Given the description of an element on the screen output the (x, y) to click on. 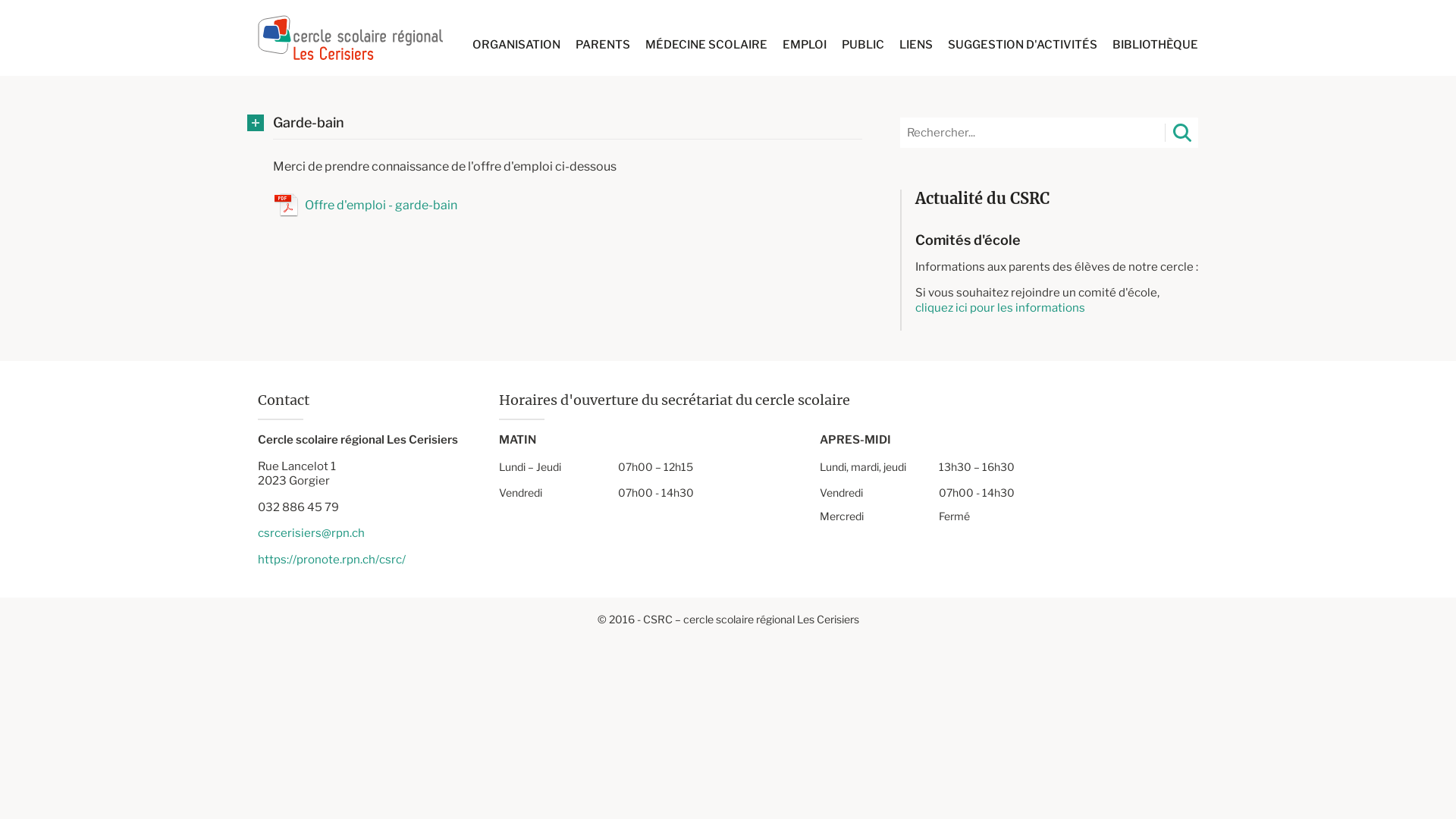
PARENTS Element type: text (602, 45)
c Element type: text (918, 307)
liquez ici pour les informations  Element type: text (1004, 307)
LIENS Element type: text (915, 45)
Garde-bain Element type: text (567, 122)
Cerisiers Element type: text (350, 37)
EMPLOI Element type: text (804, 45)
ORGANISATION Element type: text (516, 45)
csrcerisiers@rpn.ch Element type: text (310, 532)
PUBLIC Element type: text (862, 45)
Offre d'emploi - garde-bain Element type: text (380, 204)
https://pronote.rpn.ch/csrc/ Element type: text (331, 559)
